Given the description of an element on the screen output the (x, y) to click on. 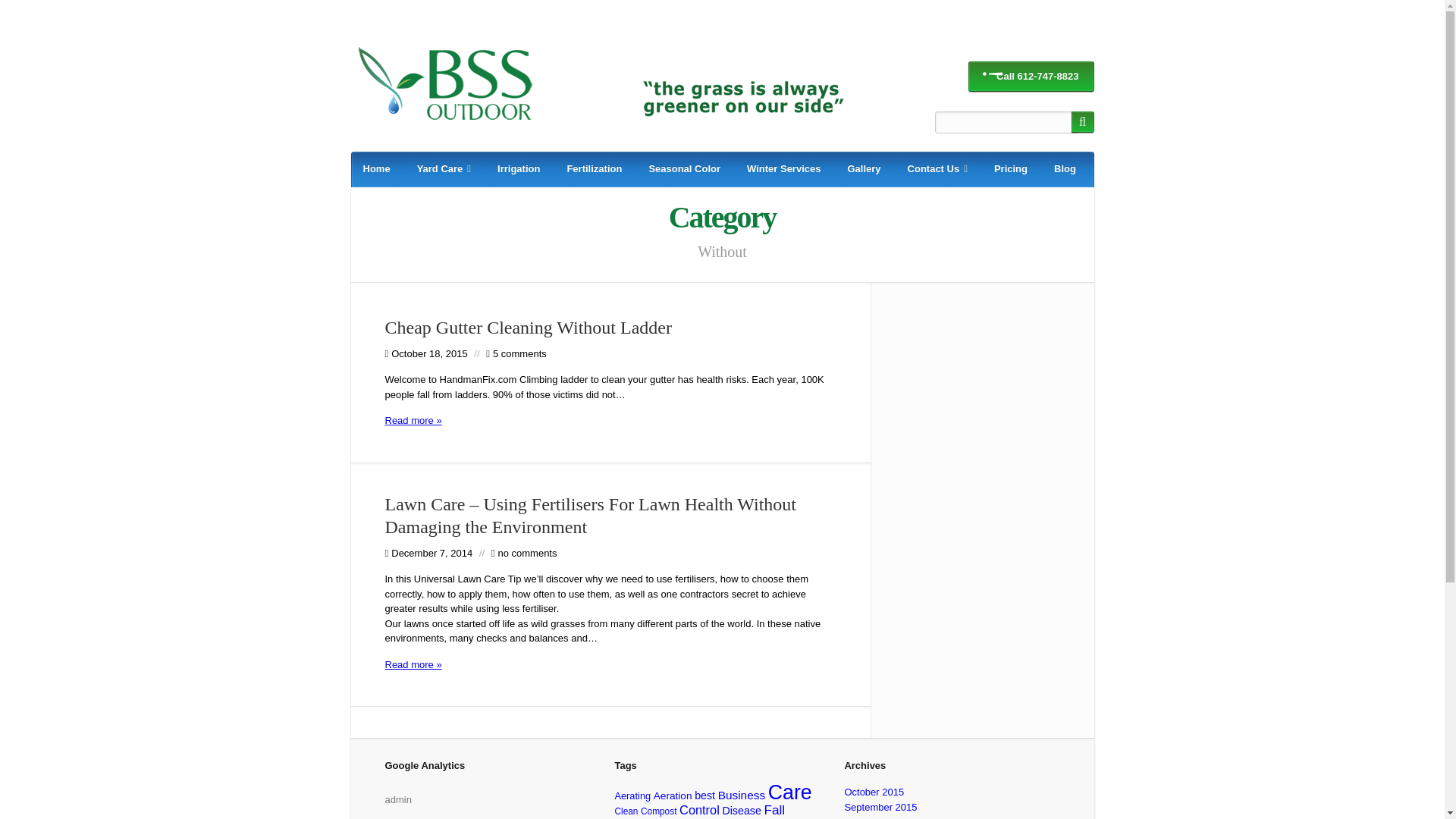
13 topics (773, 809)
Home (375, 169)
7 topics (704, 795)
14 topics (684, 818)
Winter Services (783, 169)
Seasonal Color (684, 169)
Blog (1064, 169)
9 topics (741, 794)
7 topics (741, 810)
89 topics (790, 792)
Irrigation (517, 169)
4 topics (625, 810)
Gallery (863, 169)
6 topics (673, 795)
20 topics (728, 817)
